Given the description of an element on the screen output the (x, y) to click on. 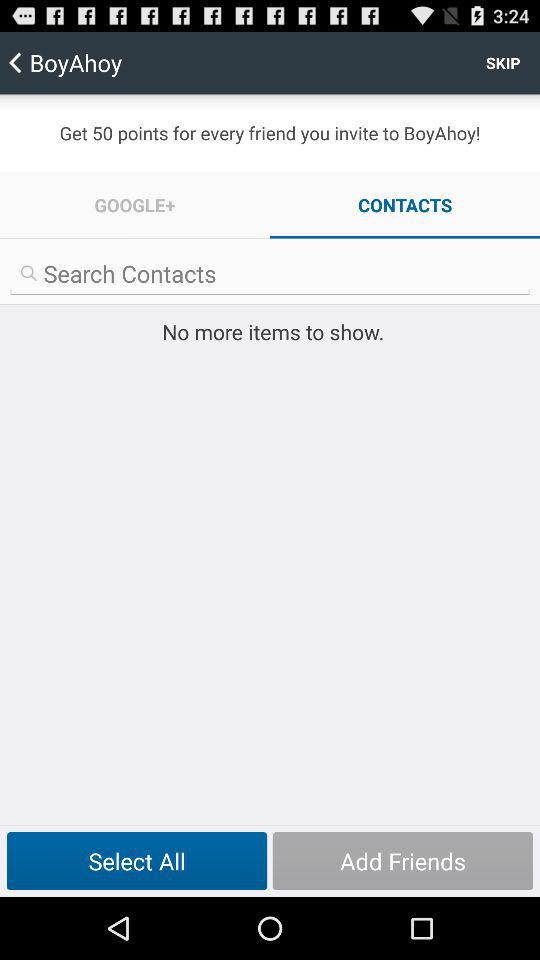
select item above the get 50 points item (503, 62)
